Given the description of an element on the screen output the (x, y) to click on. 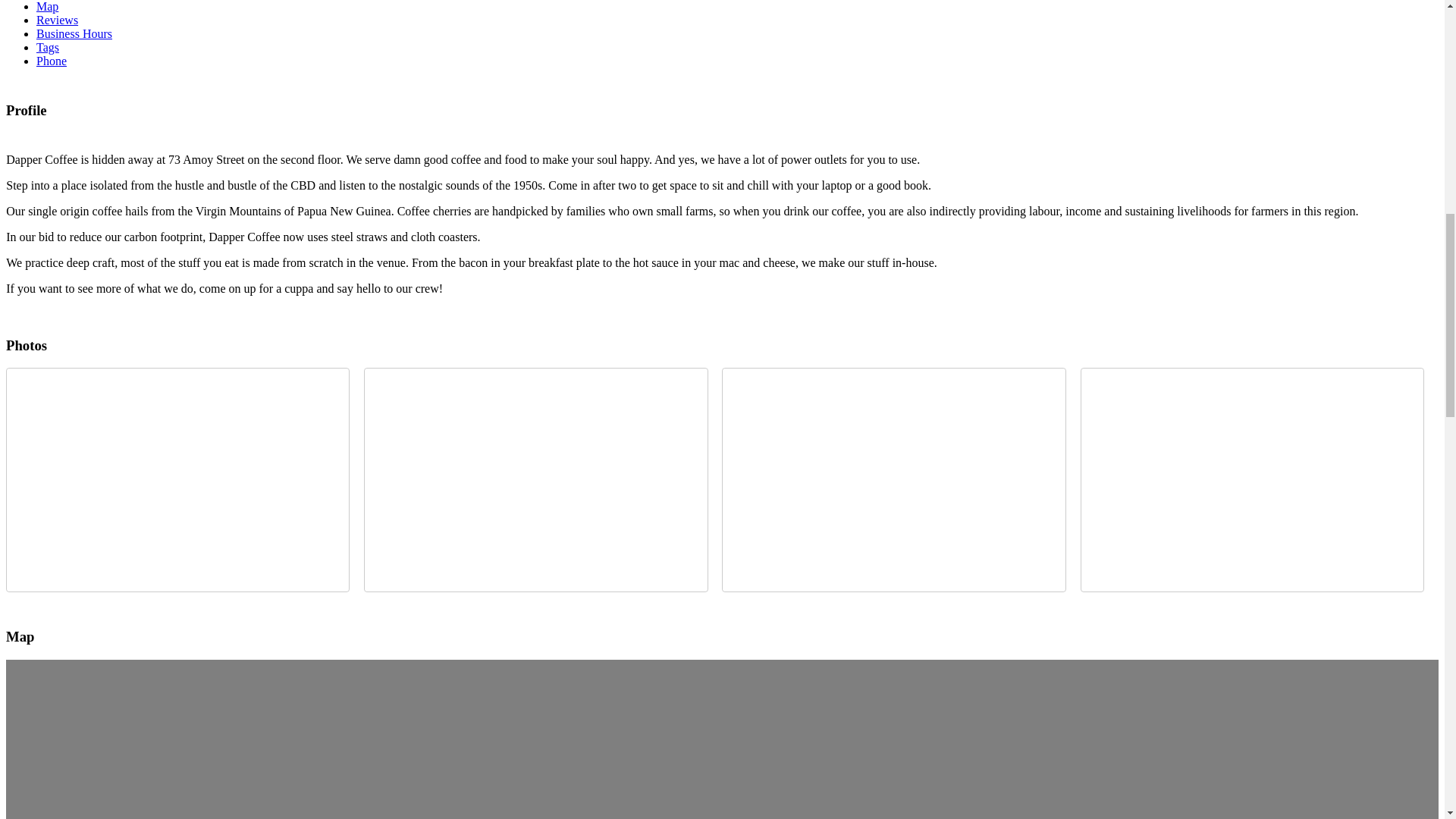
Tags (47, 47)
Business Hours (74, 33)
Reviews (57, 19)
Map (47, 6)
Phone (51, 60)
